Given the description of an element on the screen output the (x, y) to click on. 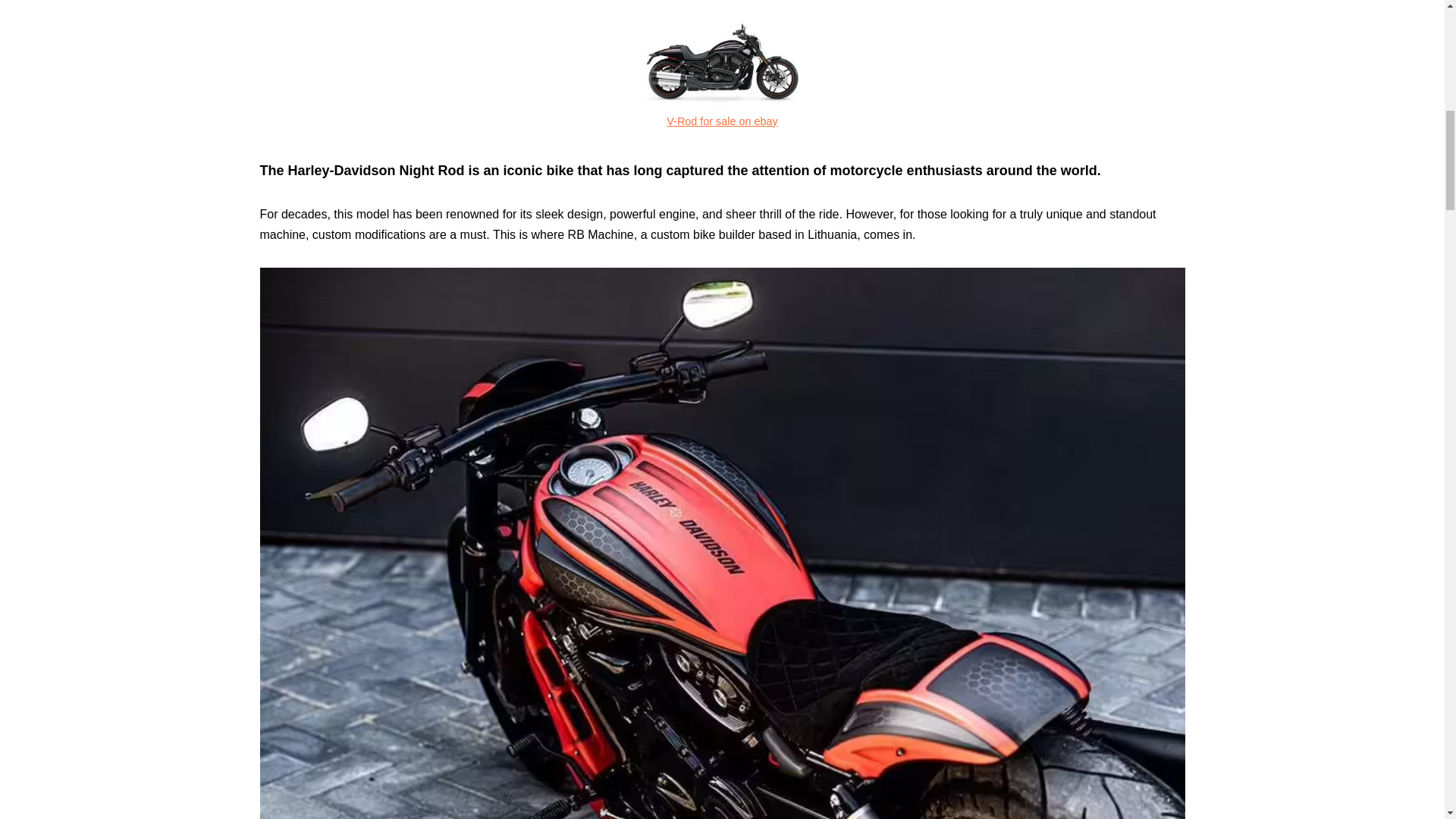
H-D Night Rod for sale (721, 54)
